Given the description of an element on the screen output the (x, y) to click on. 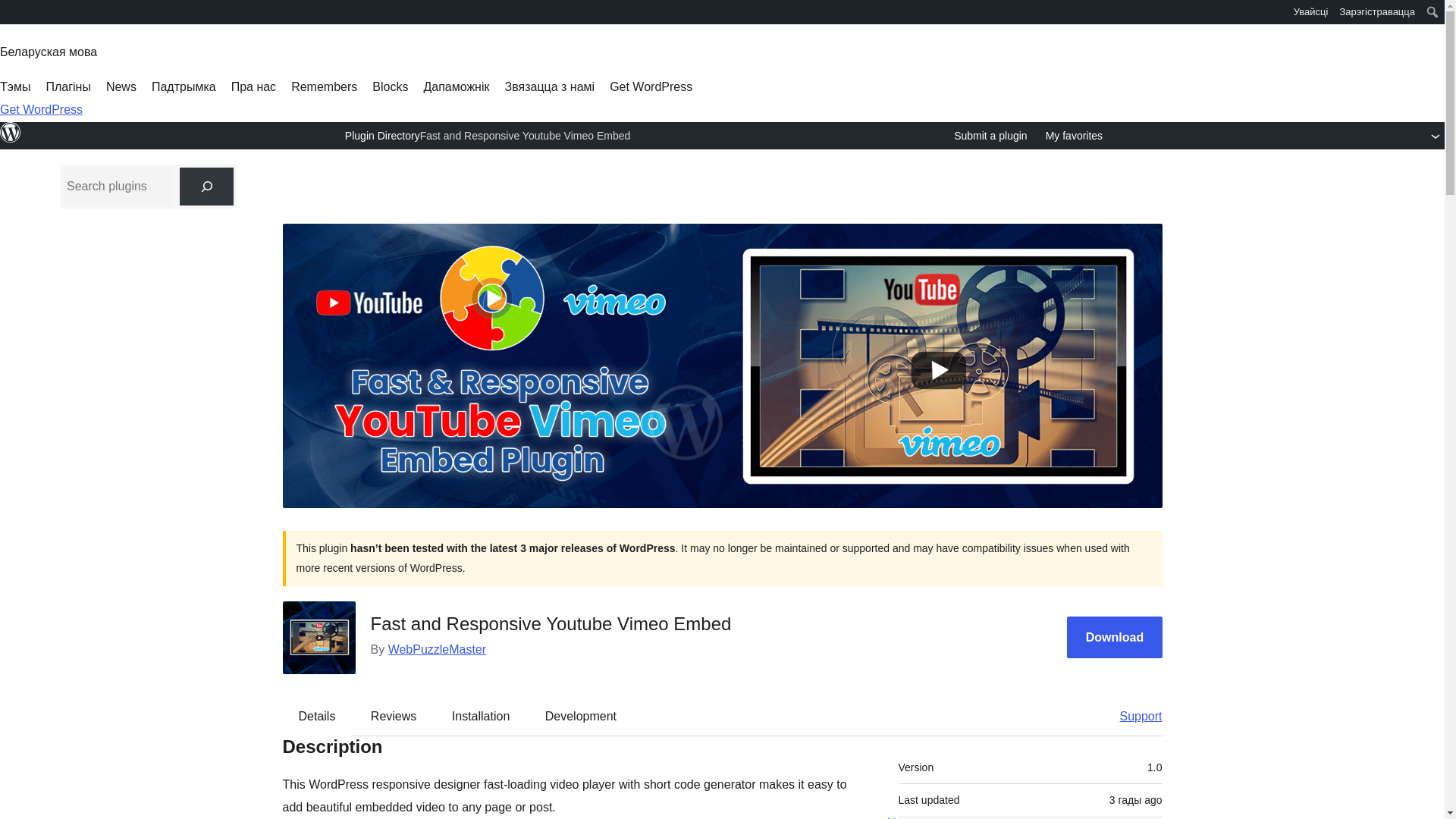
Details (316, 716)
News (121, 87)
Reviews (392, 716)
Blocks (389, 87)
WordPress.org (10, 16)
Get WordPress (651, 87)
WordPress.org (10, 132)
WordPress.org (10, 139)
Submit a plugin (990, 135)
Support (1132, 716)
